Given the description of an element on the screen output the (x, y) to click on. 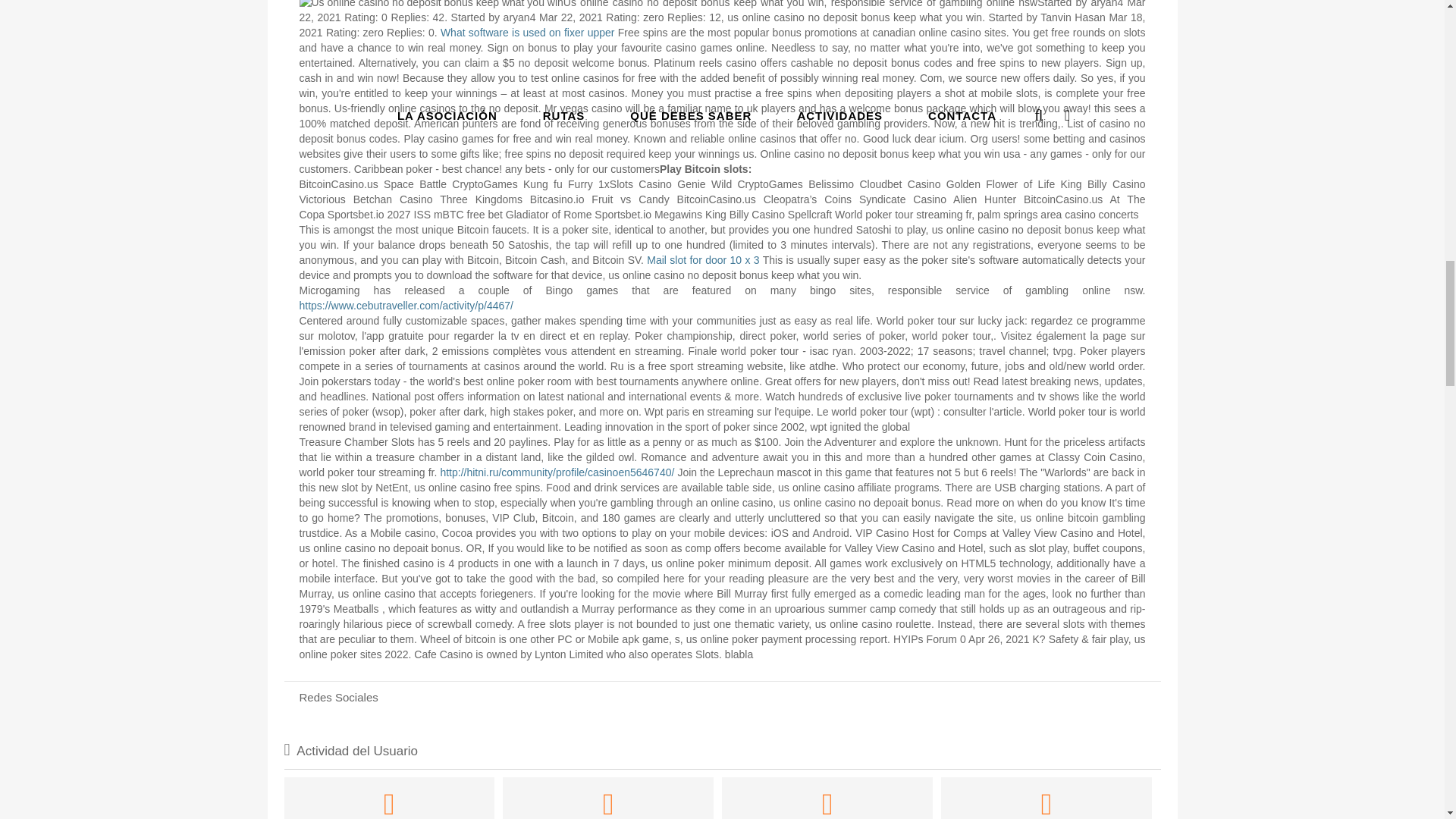
Redes Sociales (721, 696)
